Given the description of an element on the screen output the (x, y) to click on. 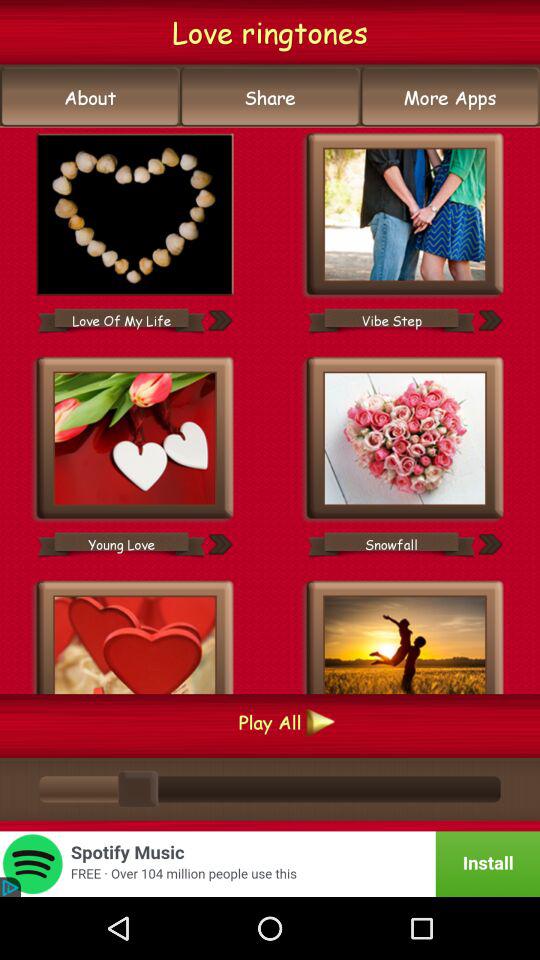
flip to about item (90, 97)
